Given the description of an element on the screen output the (x, y) to click on. 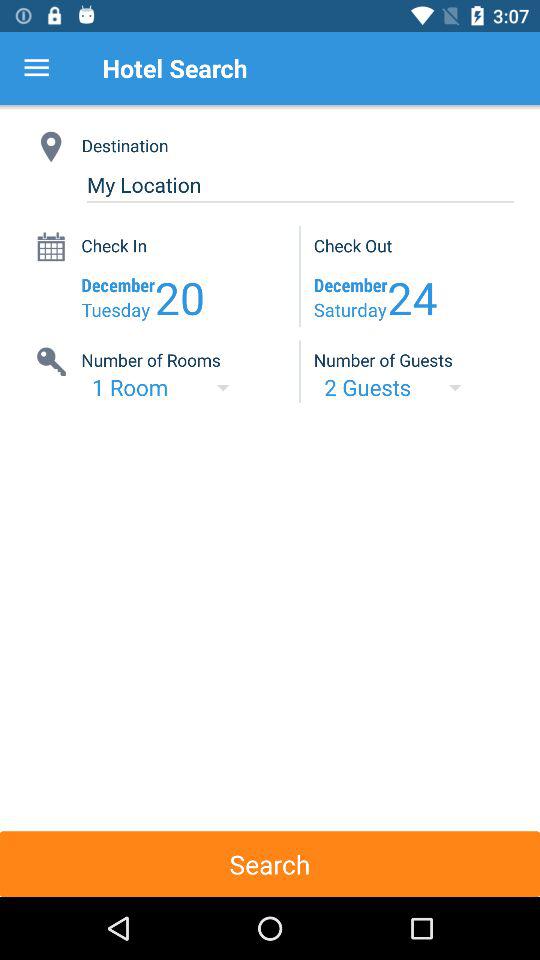
swipe to my location icon (300, 184)
